Given the description of an element on the screen output the (x, y) to click on. 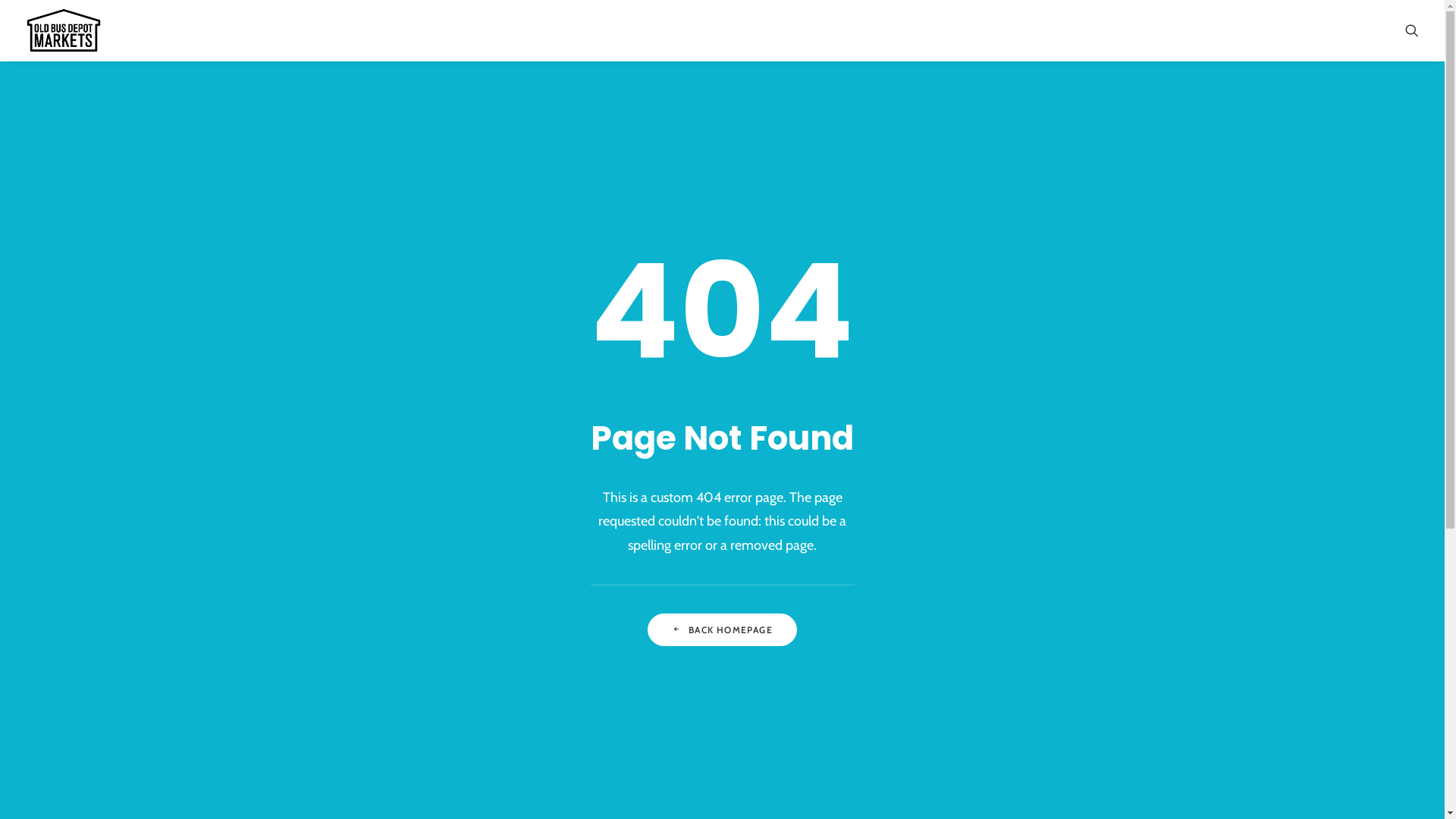
BACK HOMEPAGE Element type: text (722, 629)
